Given the description of an element on the screen output the (x, y) to click on. 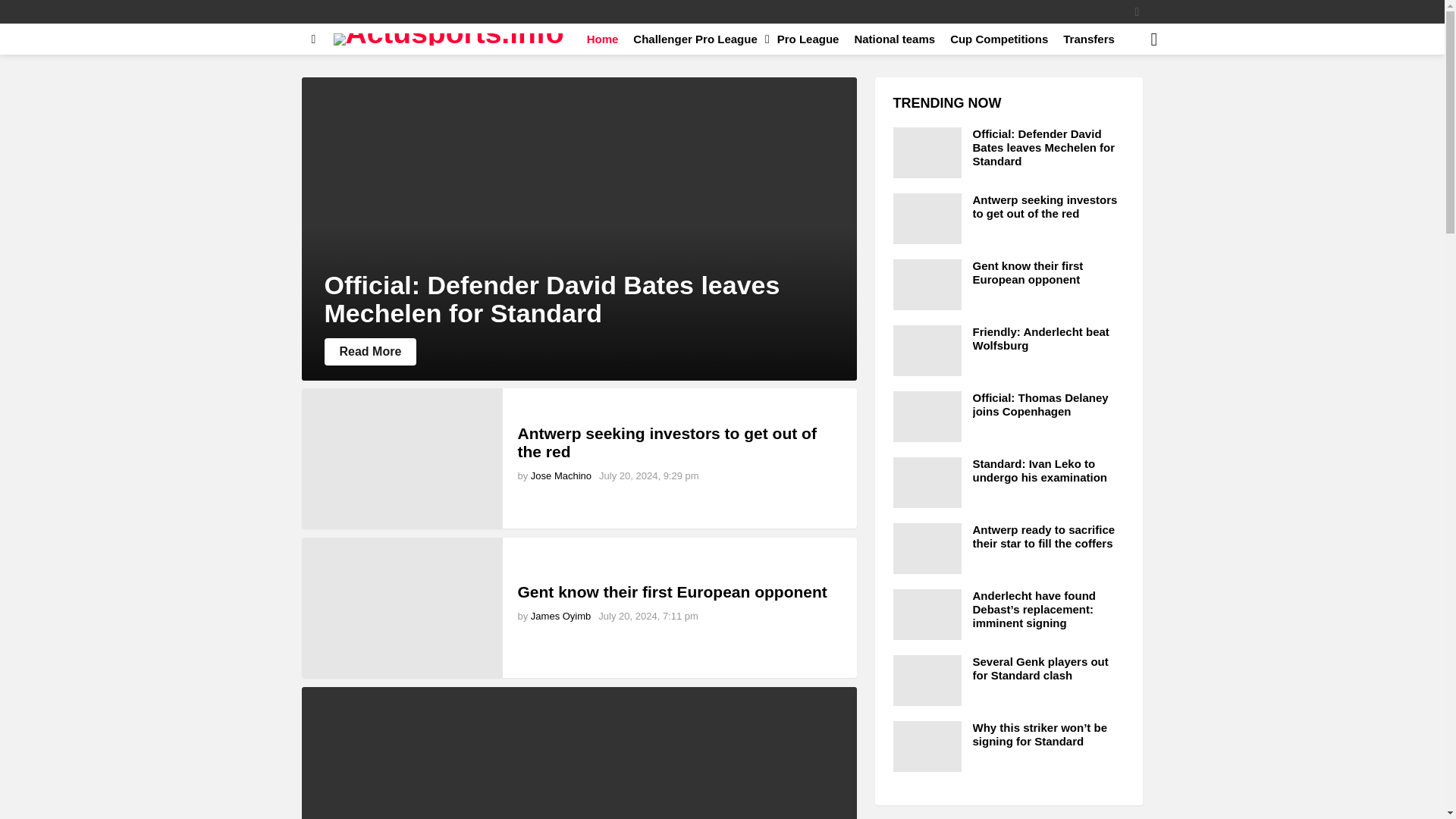
Menu (313, 39)
Read More (370, 351)
Home (602, 38)
SEARCH (1153, 39)
Antwerp seeking investors to get out of the red (665, 442)
James Oyimb (561, 615)
Posts by Jose Machino (561, 475)
Transfers (1088, 38)
Cup Competitions (998, 38)
Jose Machino (561, 475)
Official: Defender David Bates leaves Mechelen for Standard (552, 298)
National teams (893, 38)
Challenger Pro League (697, 38)
Friendly: Anderlecht beat Wolfsburg (579, 753)
Gent know their first European opponent (671, 591)
